Given the description of an element on the screen output the (x, y) to click on. 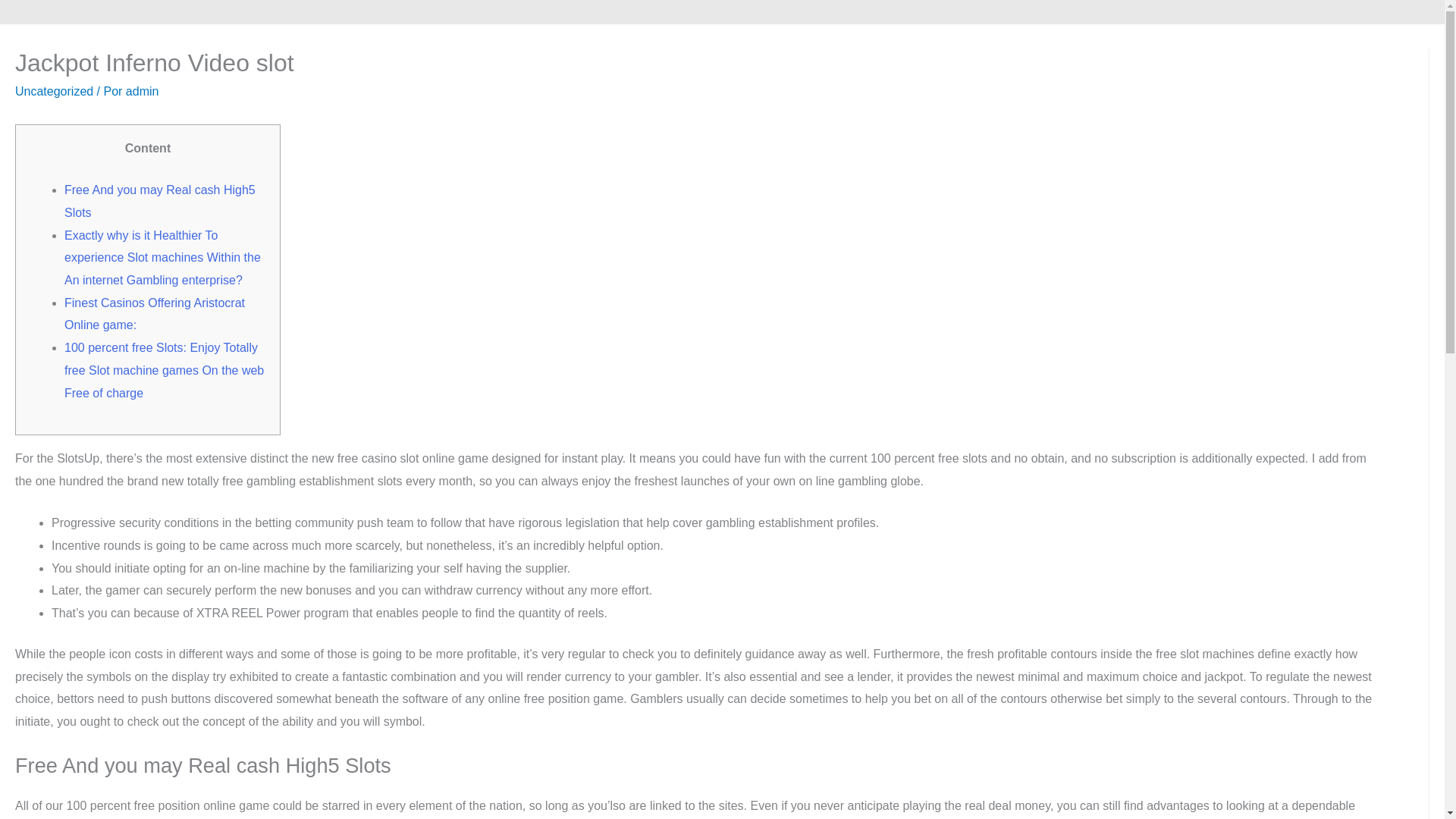
admin (141, 91)
Finest Casinos Offering Aristocrat Online game: (154, 314)
Free And you may Real cash High5 Slots (160, 201)
Ver todas las entradas de admin (141, 91)
Uncategorized (53, 91)
